Given the description of an element on the screen output the (x, y) to click on. 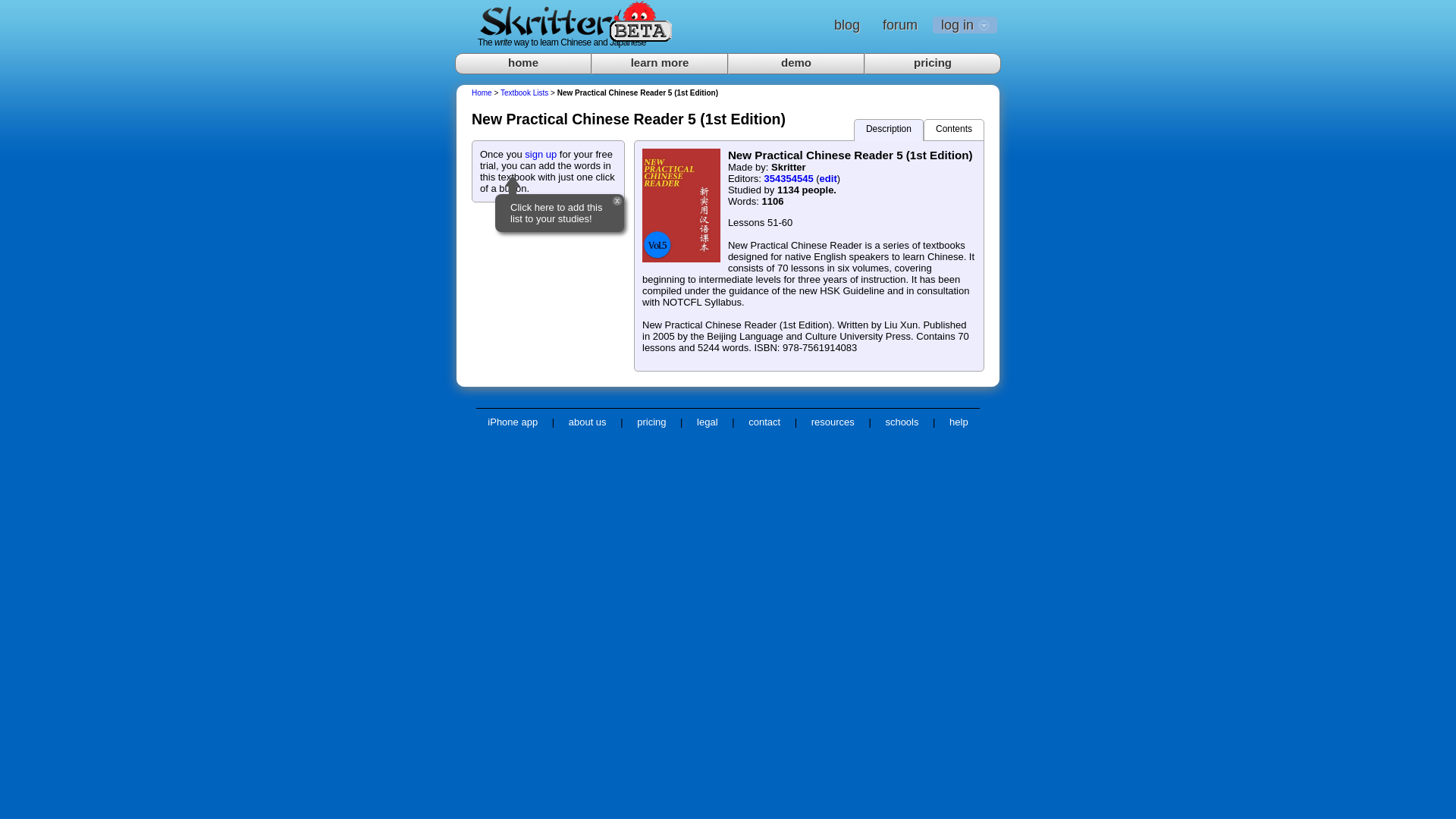
Home (481, 92)
pricing (651, 421)
about us (587, 421)
resources (832, 421)
learn more (659, 63)
iPhone app (512, 421)
demo (796, 63)
schools (901, 421)
legal (707, 421)
blog (847, 24)
